Given the description of an element on the screen output the (x, y) to click on. 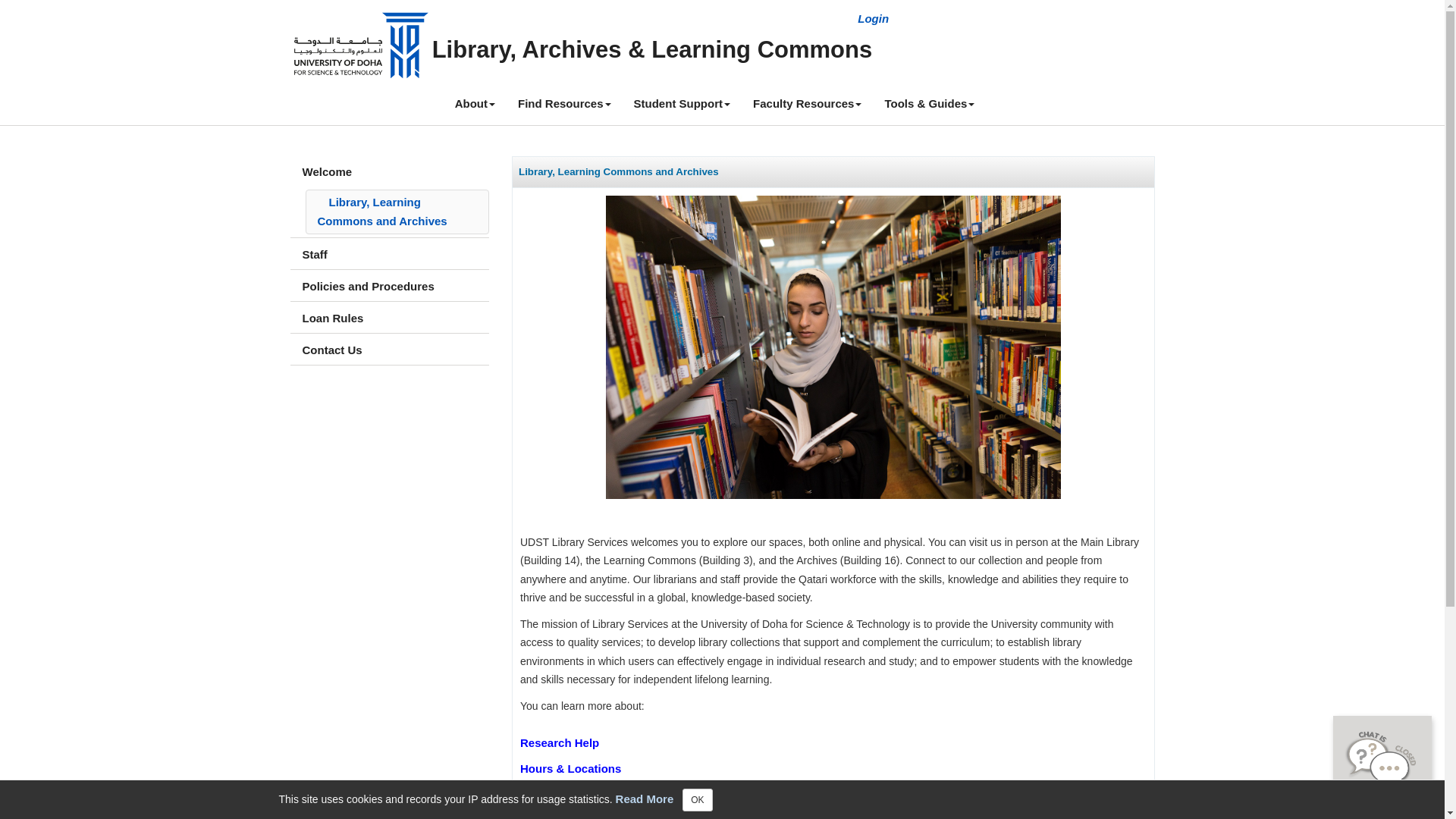
Find Resources (564, 103)
Student Support (682, 103)
Read More (644, 797)
About (475, 103)
Faculty Resources (806, 103)
Chat now offline - Click for open hours (1382, 760)
OK (696, 799)
